Given the description of an element on the screen output the (x, y) to click on. 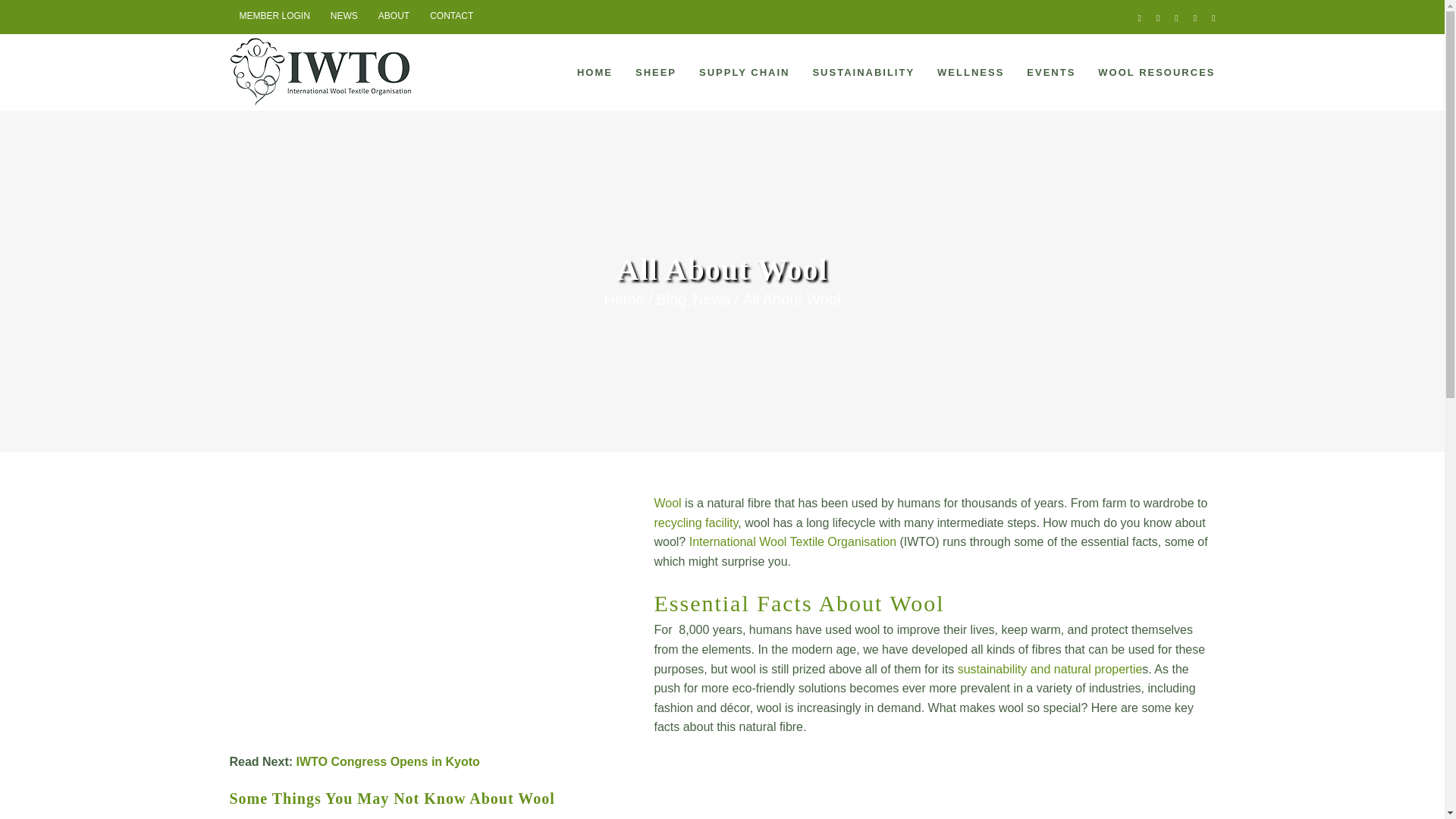
WOOL RESOURCES (1155, 71)
International Wool Textile Organisation (792, 541)
ABOUT (393, 16)
MEMBER LOGIN (273, 16)
SUSTAINABILITY (863, 71)
NEWS (344, 16)
IWTO Congress Opens in Kyoto (387, 761)
Blog (670, 299)
CONTACT (451, 16)
Wool (667, 502)
